Given the description of an element on the screen output the (x, y) to click on. 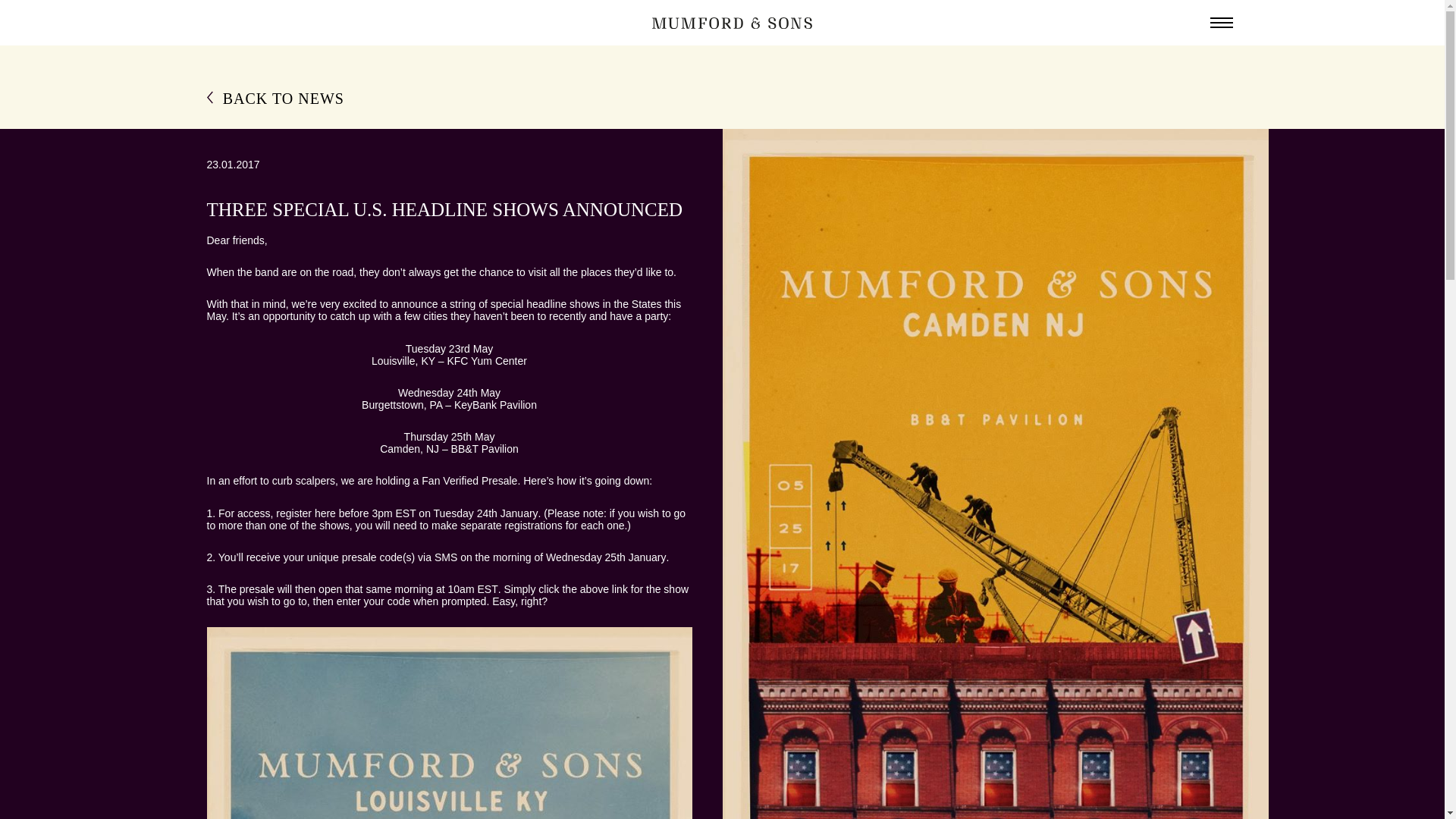
register here (306, 512)
Open (1220, 22)
THREE SPECIAL U.S. HEADLINE SHOWS ANNOUNCED (444, 209)
BACK TO NEWS (721, 98)
Fan Verified Presale (469, 480)
Tuesday 23rd May (449, 348)
